Given the description of an element on the screen output the (x, y) to click on. 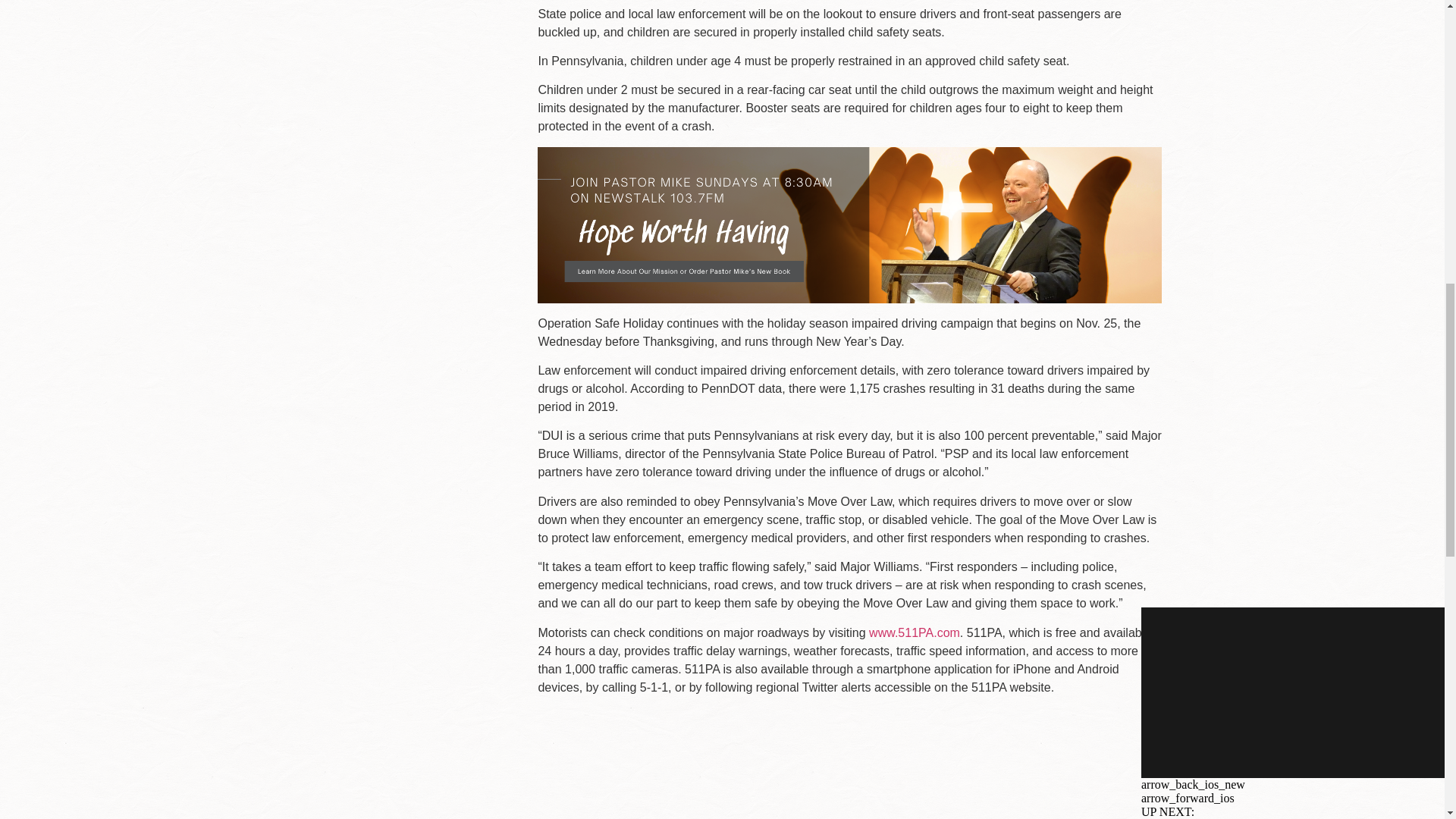
www.511PA.com (914, 632)
